Given the description of an element on the screen output the (x, y) to click on. 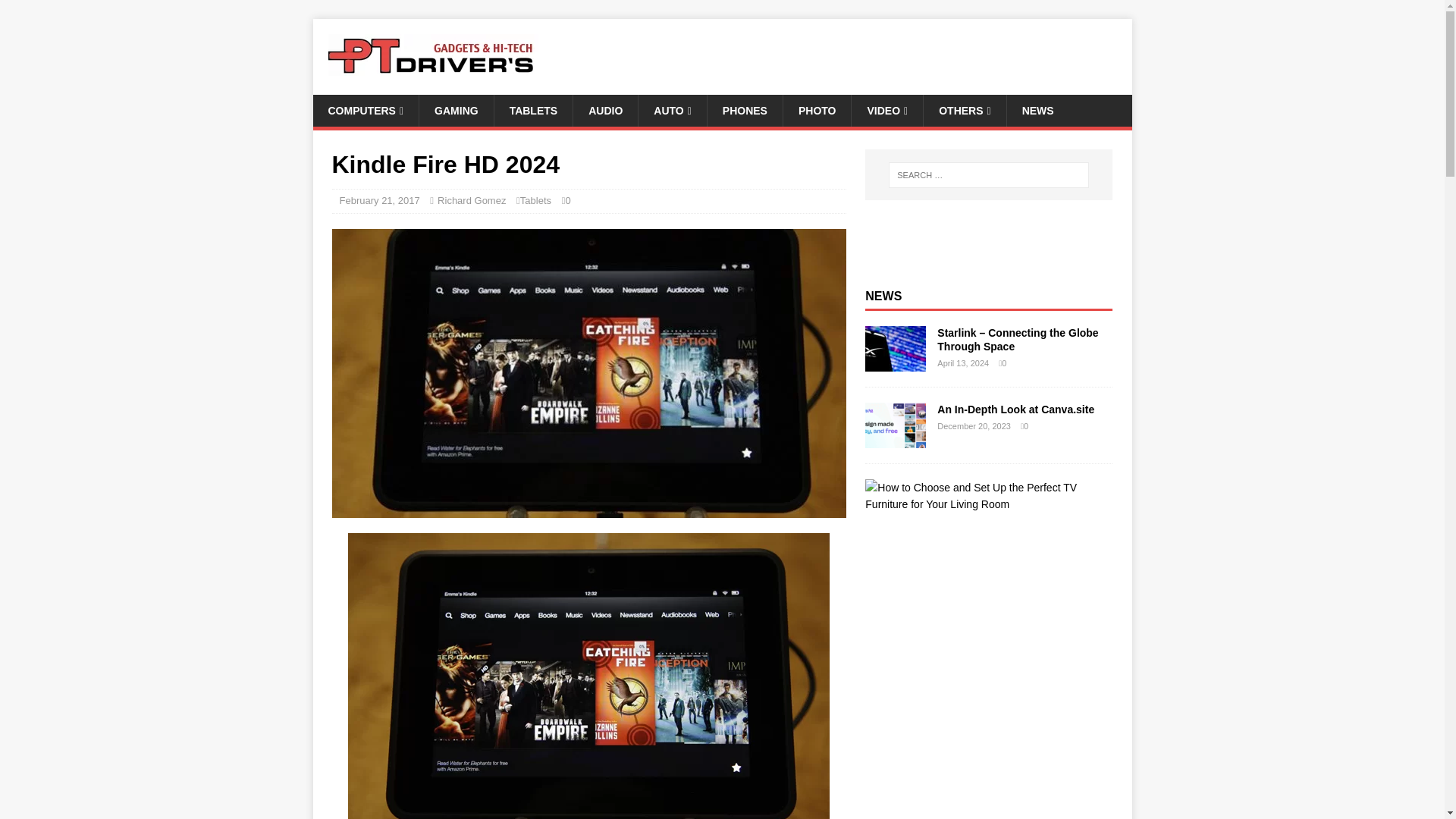
February 21, 2017 (379, 200)
AUTO (671, 110)
Video (886, 110)
NEWS (1037, 110)
TABLETS (533, 110)
VIDEO (886, 110)
COMPUTERS (366, 110)
PHONES (744, 110)
Computers (366, 110)
Gaming (456, 110)
